Given the description of an element on the screen output the (x, y) to click on. 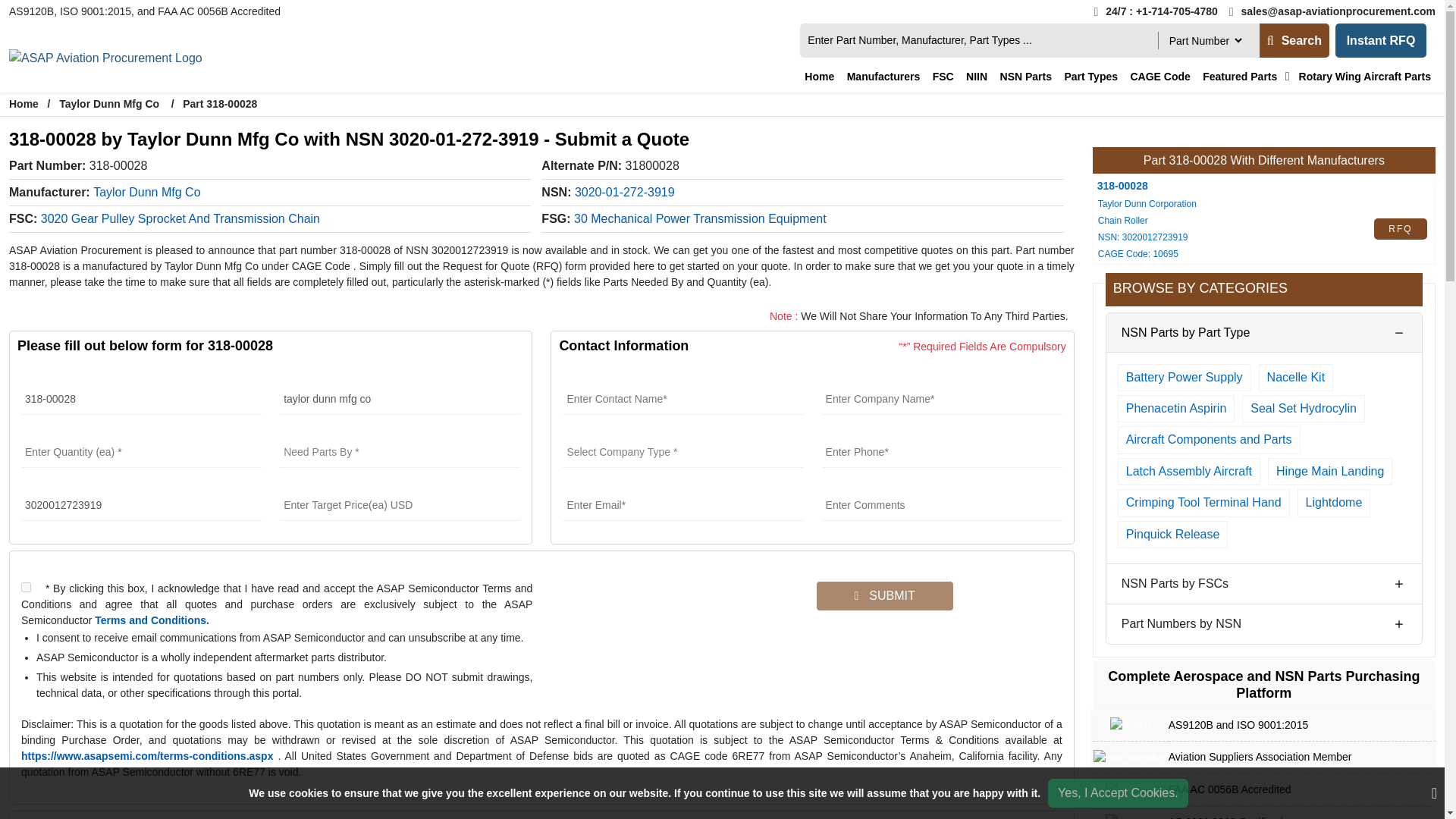
Search (1294, 40)
CAGE Code (1159, 76)
  SUBMIT (884, 595)
NSN Parts (1026, 76)
taylor dunn mfg co (399, 399)
Manufacturers (883, 76)
Home (818, 76)
on (25, 587)
3020-01-272-3919 (625, 194)
NIIN (975, 76)
